Given the description of an element on the screen output the (x, y) to click on. 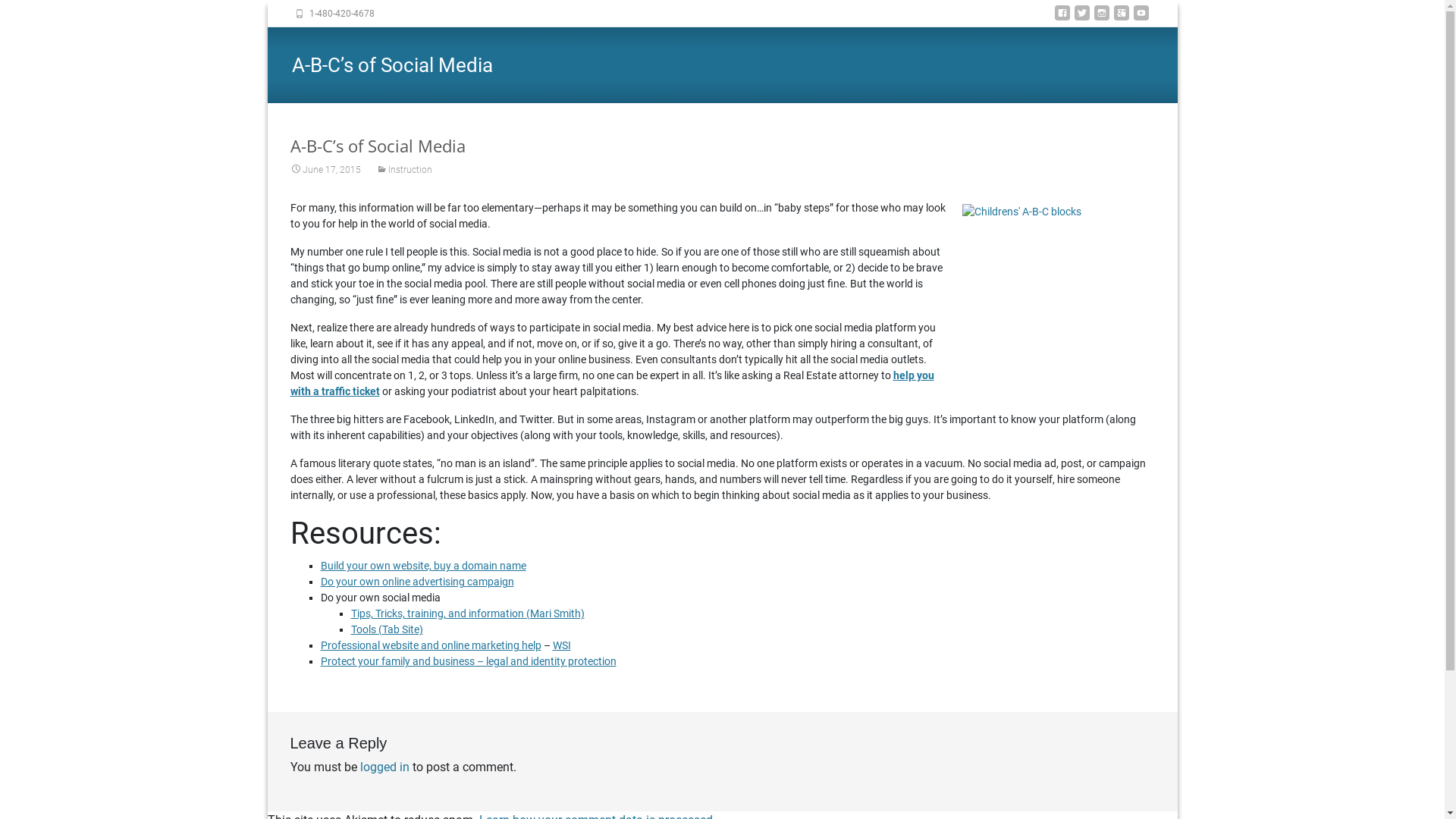
June 17, 2015 Element type: text (324, 169)
googleplus Element type: hover (1120, 18)
Build your own website, buy a domain name Element type: text (422, 565)
Instruction Element type: text (404, 169)
Professional website and online marketing help Element type: text (430, 645)
Tools (Tab Site) Element type: text (386, 629)
help you with a traffic ticket Element type: text (611, 383)
logged in Element type: text (383, 766)
instagram Element type: hover (1100, 18)
Tips, Tricks, training, and information (Mari Smith) Element type: text (466, 613)
facebook Element type: hover (1061, 18)
Do your own online advertising campaign Element type: text (416, 581)
WSI Element type: text (561, 645)
youtube Element type: hover (1140, 18)
twitter Element type: hover (1080, 18)
